Given the description of an element on the screen output the (x, y) to click on. 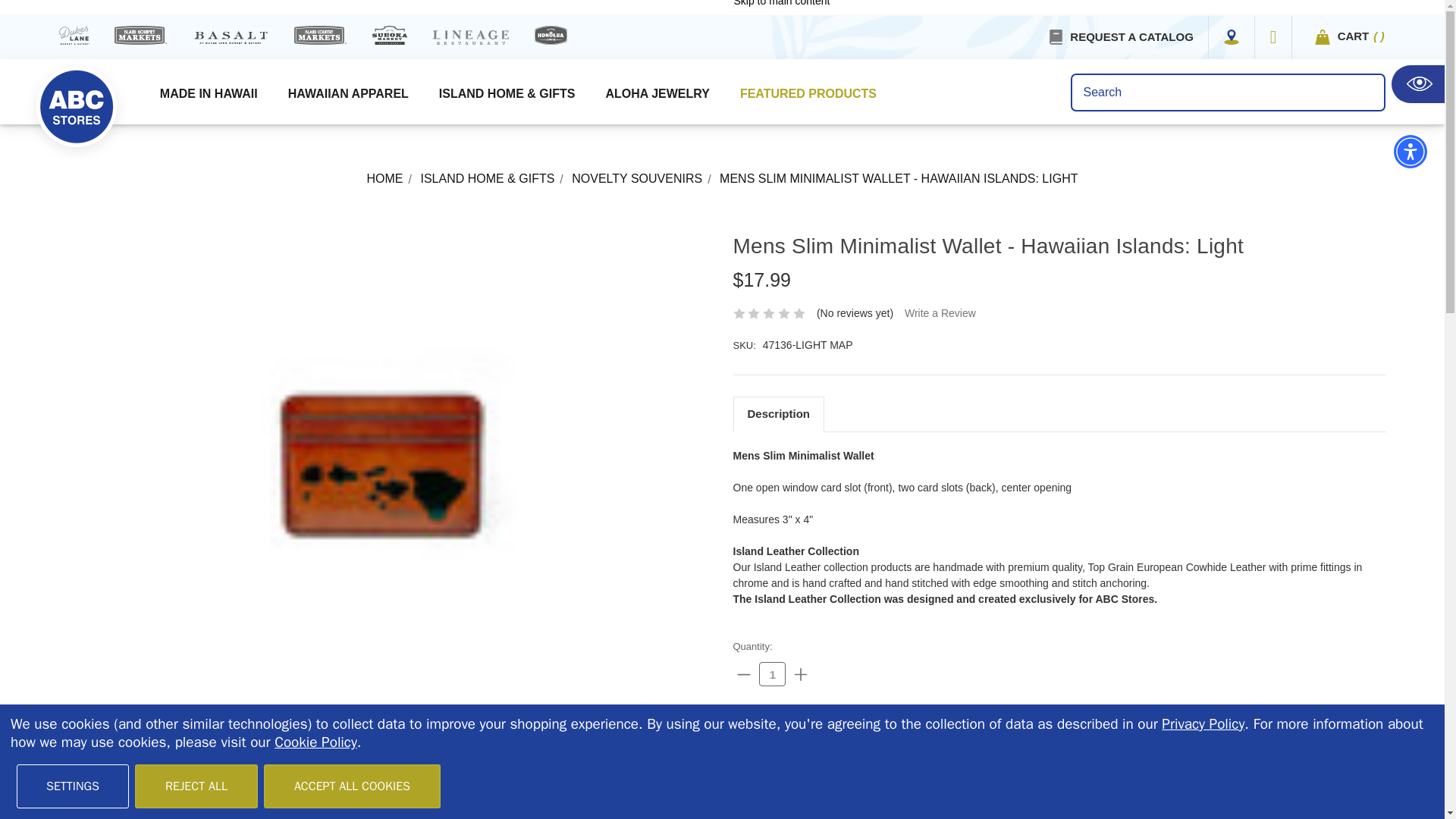
ABC Stores (76, 106)
Accessibility Menu (1409, 151)
1 (772, 673)
Skip to main content (781, 7)
Add to Cart (794, 737)
REQUEST A CATALOG (1131, 36)
MADE IN HAWAII (208, 97)
